Given the description of an element on the screen output the (x, y) to click on. 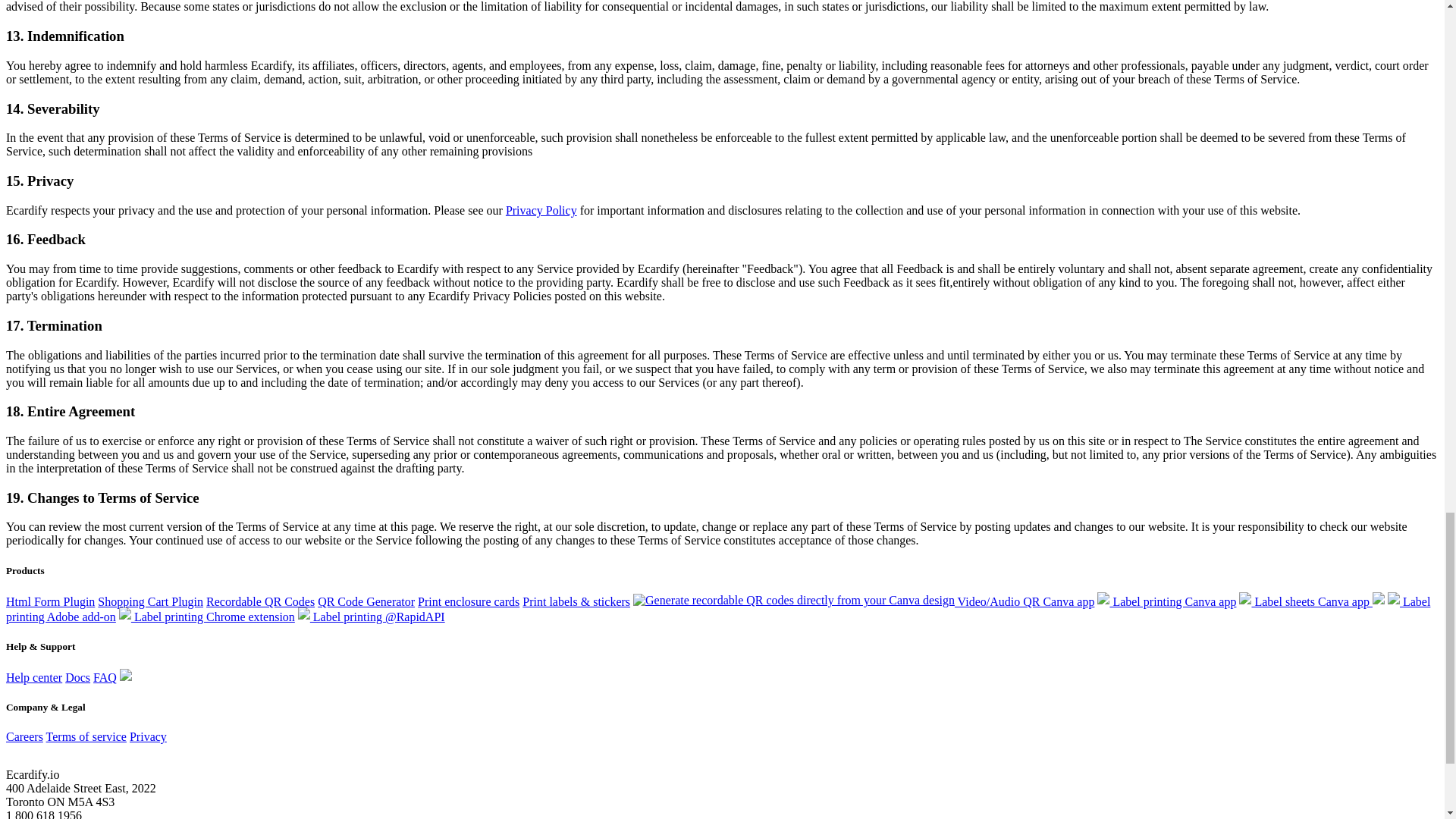
QR Code Generator (365, 601)
Label sheets Canva app (1311, 601)
Docs (77, 676)
Label printing Adobe add-on (717, 609)
Label printing Canva app (1166, 601)
Html Form Plugin (49, 601)
Print enclosure cards (468, 601)
Label printing Chrome extension (207, 616)
Generate recordable QR codes directly from your Canva design (794, 600)
Shopping Cart Plugin (150, 601)
FAQ (104, 676)
Help center (33, 676)
Privacy Policy (540, 210)
Recordable QR Codes (260, 601)
